Given the description of an element on the screen output the (x, y) to click on. 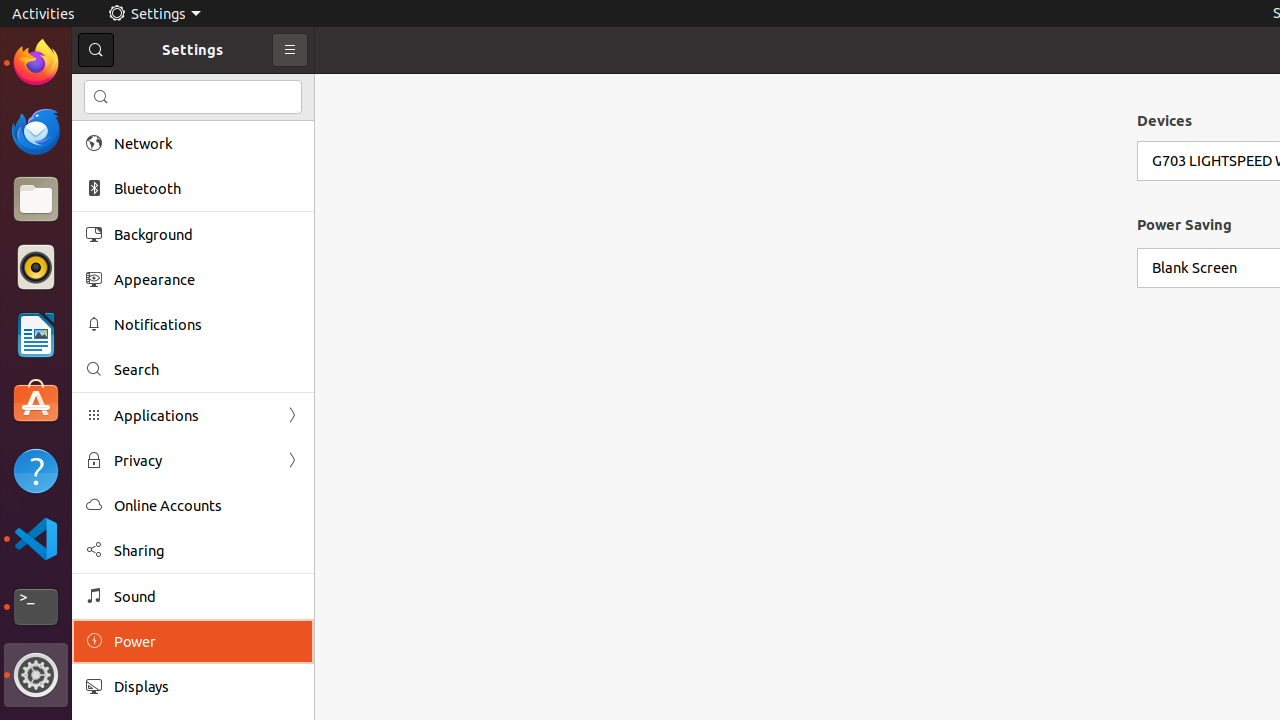
Firefox Web Browser Element type: push-button (36, 63)
Blank Screen Element type: label (1194, 267)
Power Saving Element type: label (1184, 224)
Sound Element type: label (207, 596)
Bluetooth Element type: label (207, 188)
